Given the description of an element on the screen output the (x, y) to click on. 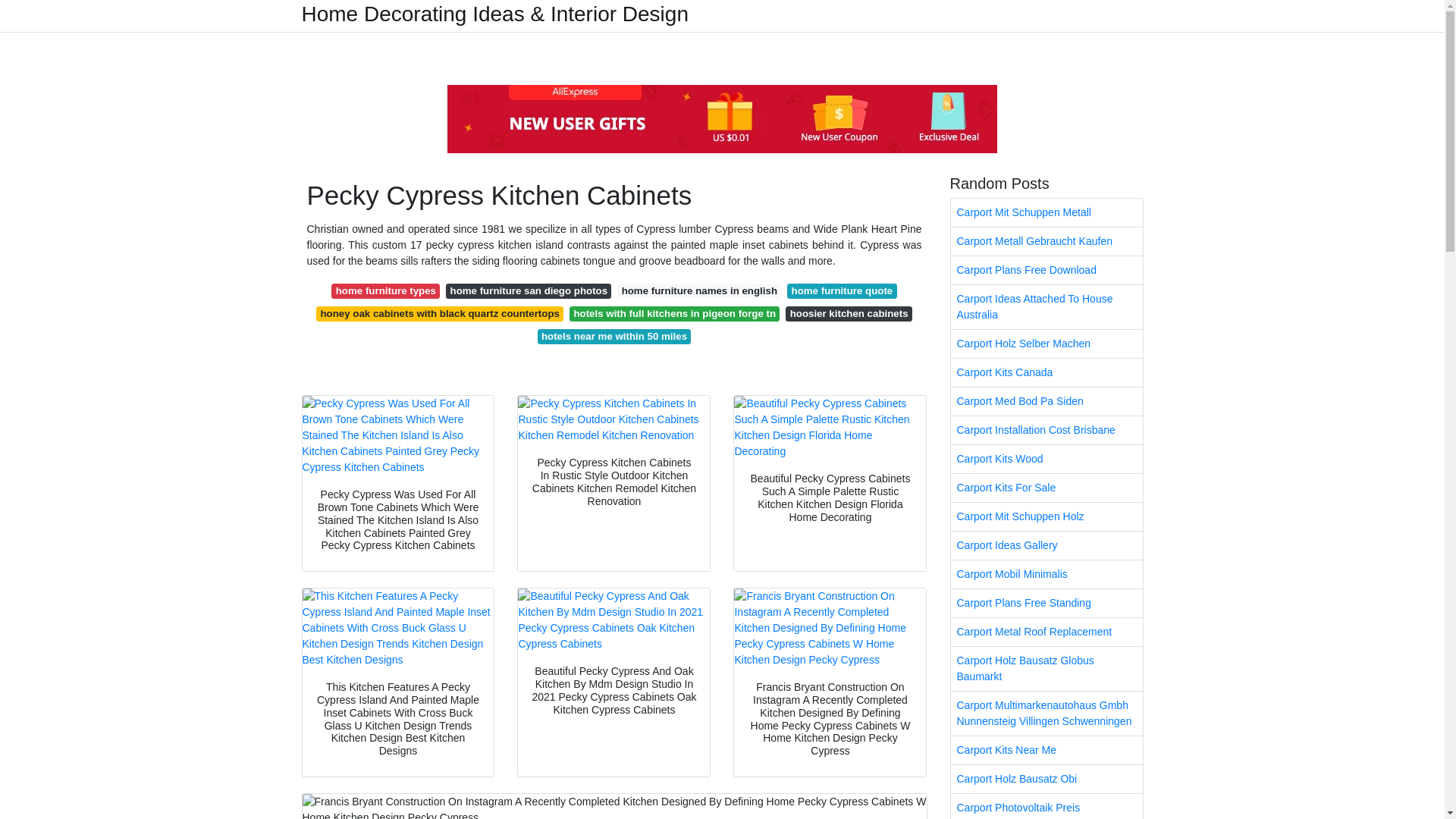
Carport Plans Free Download (1046, 270)
Carport Med Bod Pa Siden (1046, 401)
home furniture names in english (698, 290)
Carport Ideas Attached To House Australia (1046, 307)
Carport Kits Canada (1046, 372)
Carport Mit Schuppen Metall (1046, 212)
home furniture types (385, 290)
Carport Holz Selber Machen (1046, 343)
Carport Kits Wood (1046, 459)
hotels near me within 50 miles (614, 336)
Carport Installation Cost Brisbane (1046, 430)
home furniture quote (841, 290)
home furniture san diego photos (528, 290)
hoosier kitchen cabinets (849, 313)
Carport Metall Gebraucht Kaufen (1046, 241)
